Given the description of an element on the screen output the (x, y) to click on. 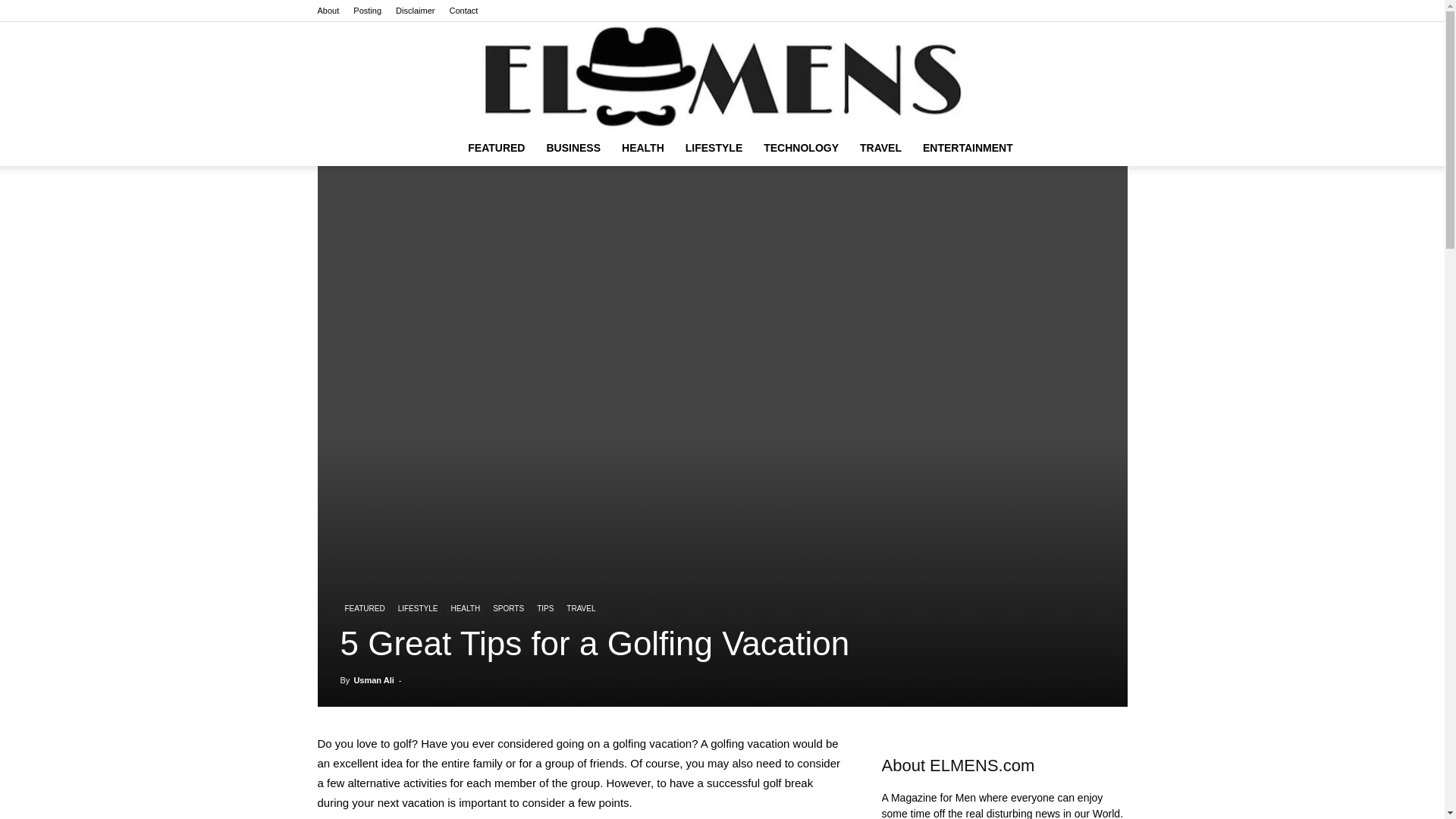
LIFESTYLE (713, 147)
elmenslogo (721, 75)
CATEGORIES (496, 147)
